Given the description of an element on the screen output the (x, y) to click on. 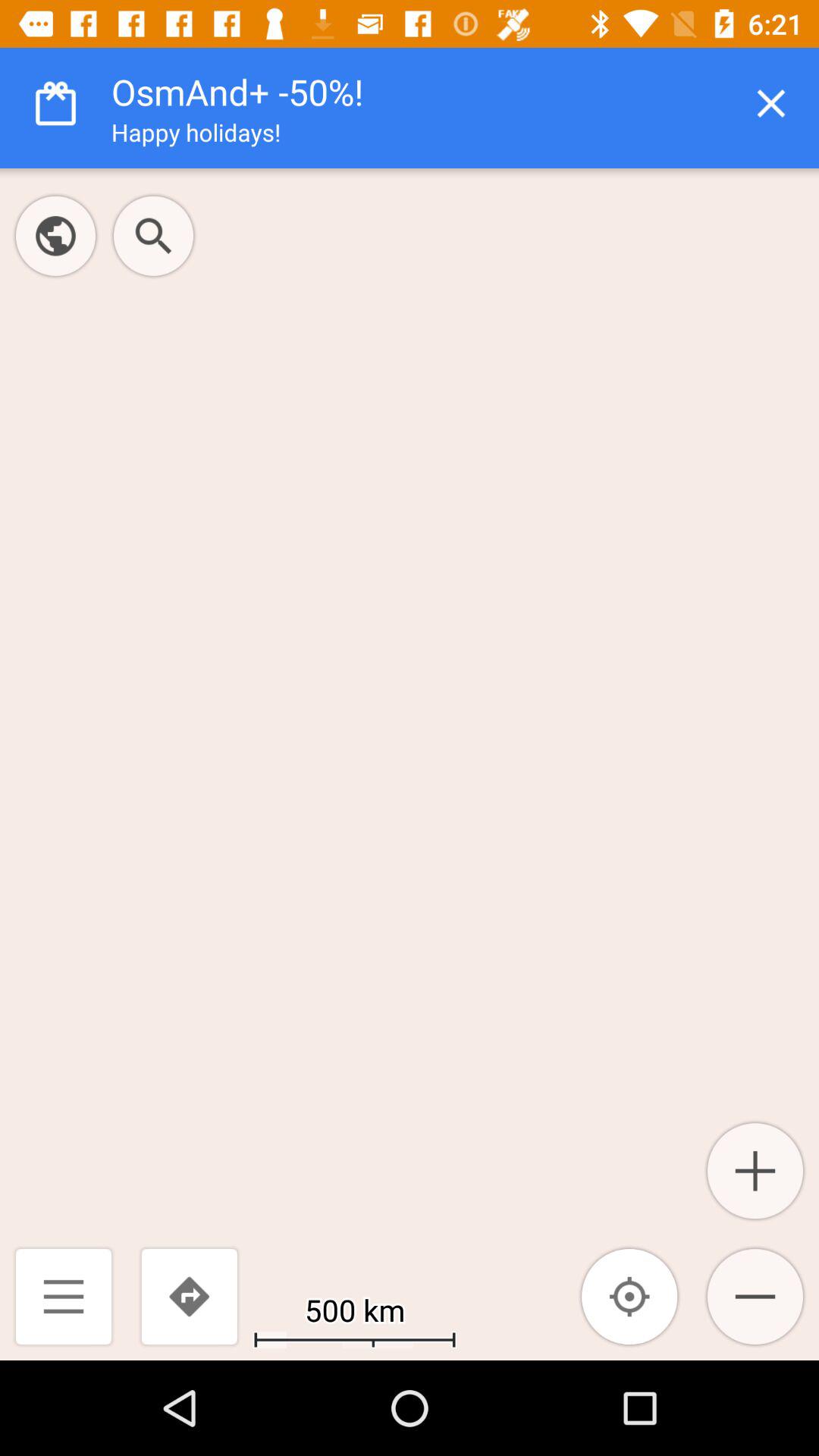
choose item to the left of the 500 km icon (189, 1296)
